Given the description of an element on the screen output the (x, y) to click on. 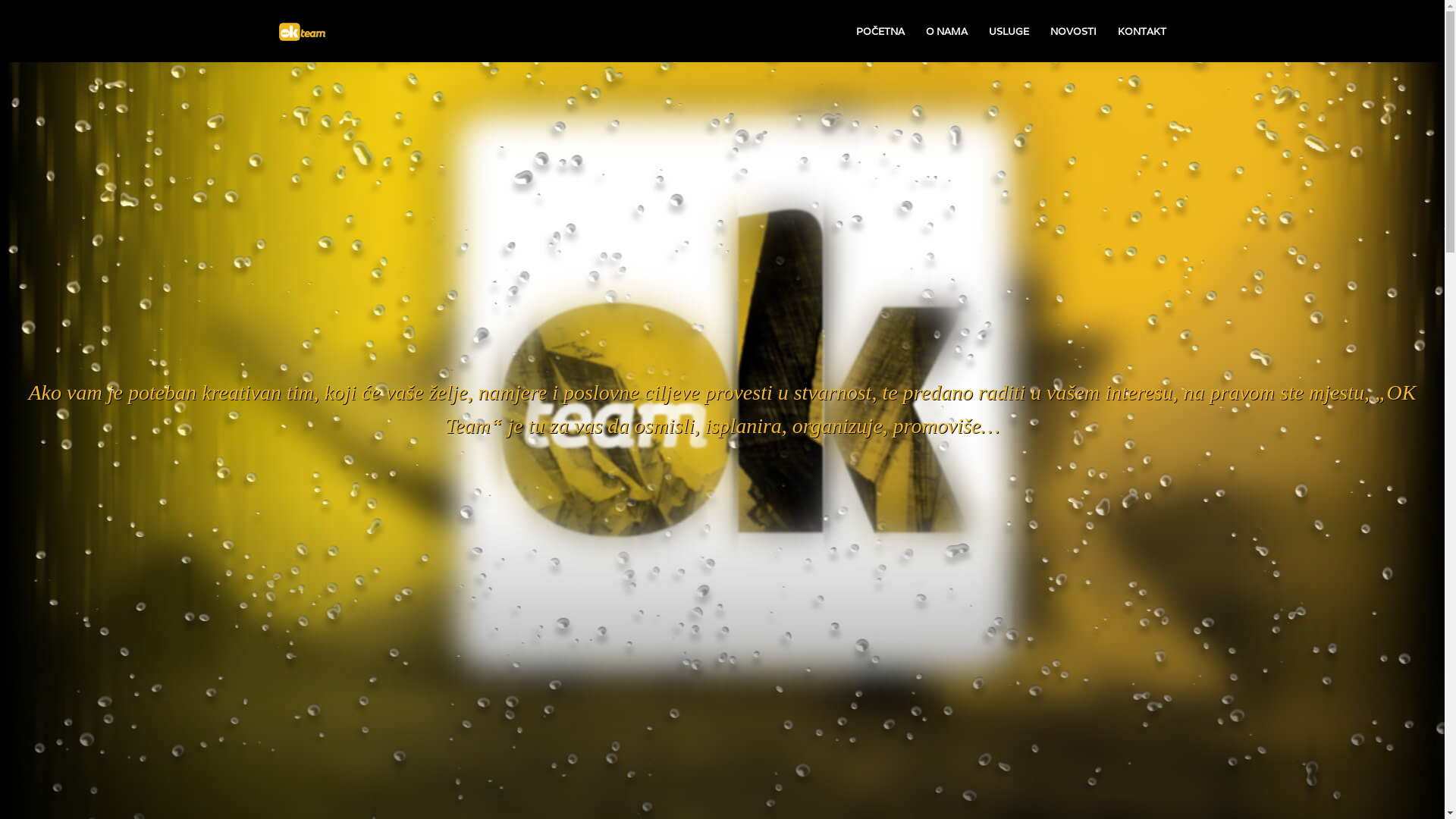
KONTAKT Element type: text (1141, 31)
O NAMA Element type: text (945, 31)
USLUGE Element type: text (1008, 31)
NOVOSTI Element type: text (1072, 31)
